Given the description of an element on the screen output the (x, y) to click on. 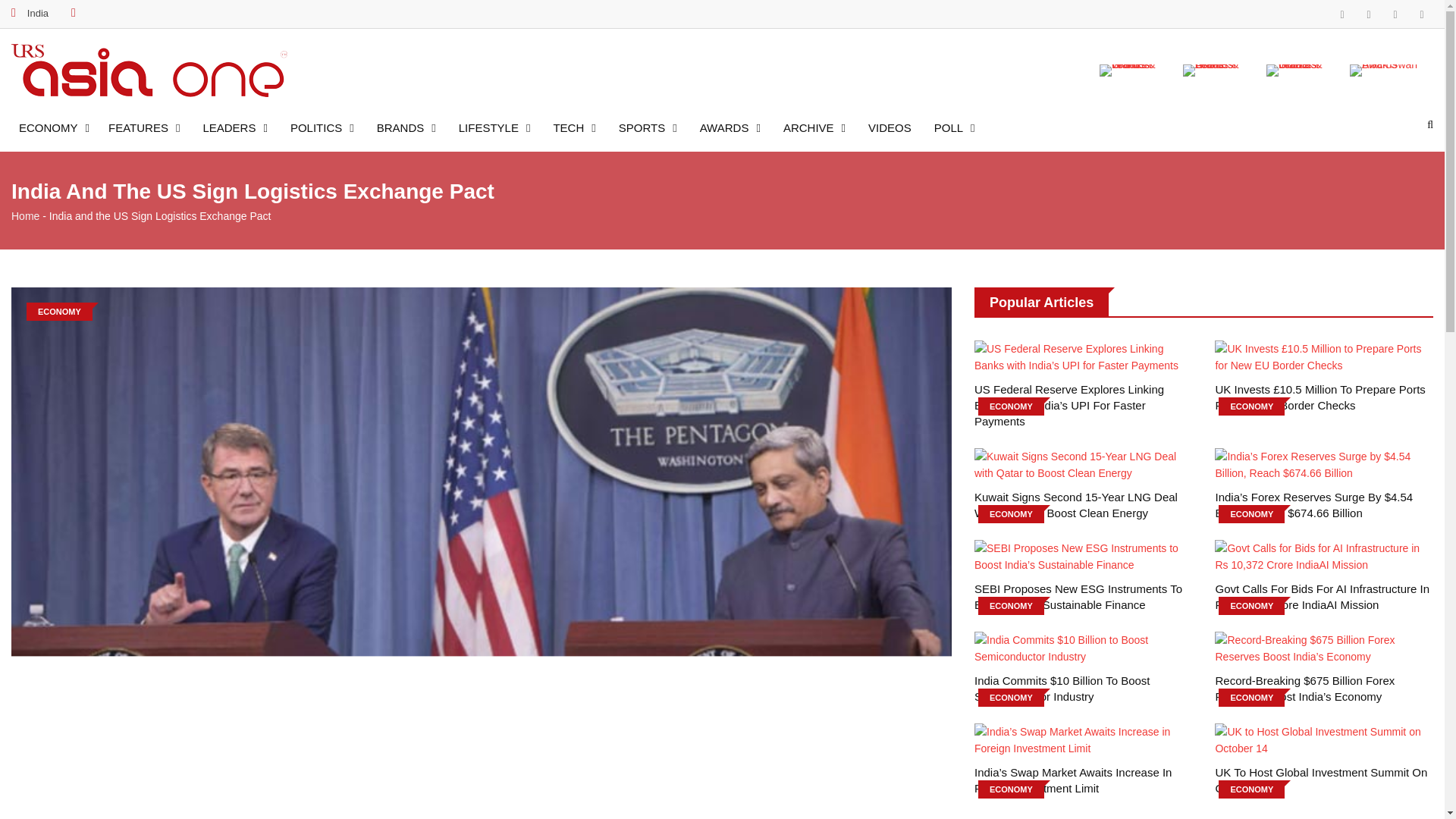
LIFESTYLE (493, 124)
POLITICS (322, 124)
LEADERS (234, 124)
FEATURES (143, 124)
ECONOMY (57, 124)
BRANDS (405, 124)
